Given the description of an element on the screen output the (x, y) to click on. 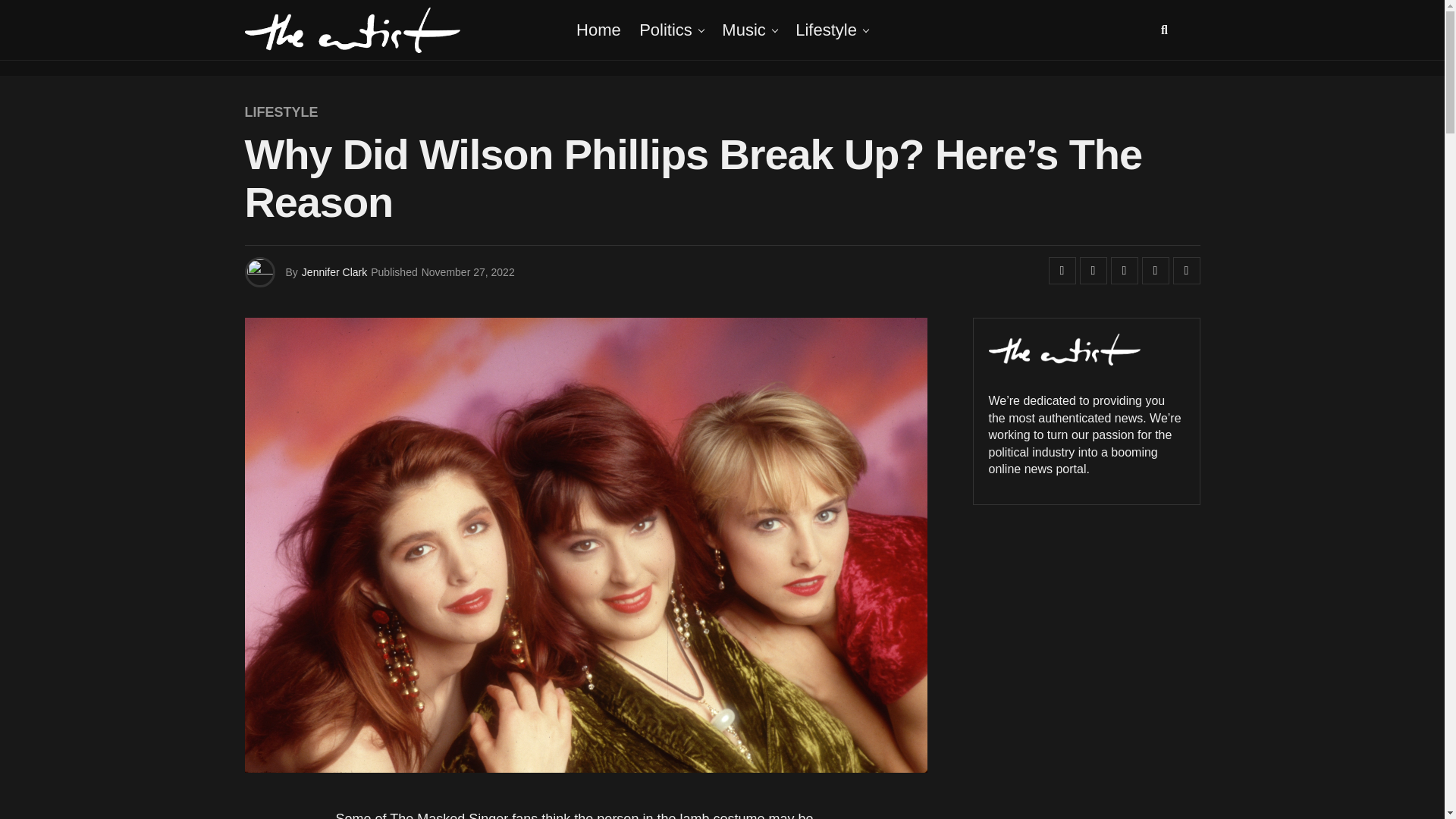
Posts by Jennifer Clark (333, 272)
Share on Facebook (1061, 270)
Tweet This Post (1093, 270)
Music (743, 30)
Home (598, 30)
Lifestyle (825, 30)
Politics (665, 30)
